Given the description of an element on the screen output the (x, y) to click on. 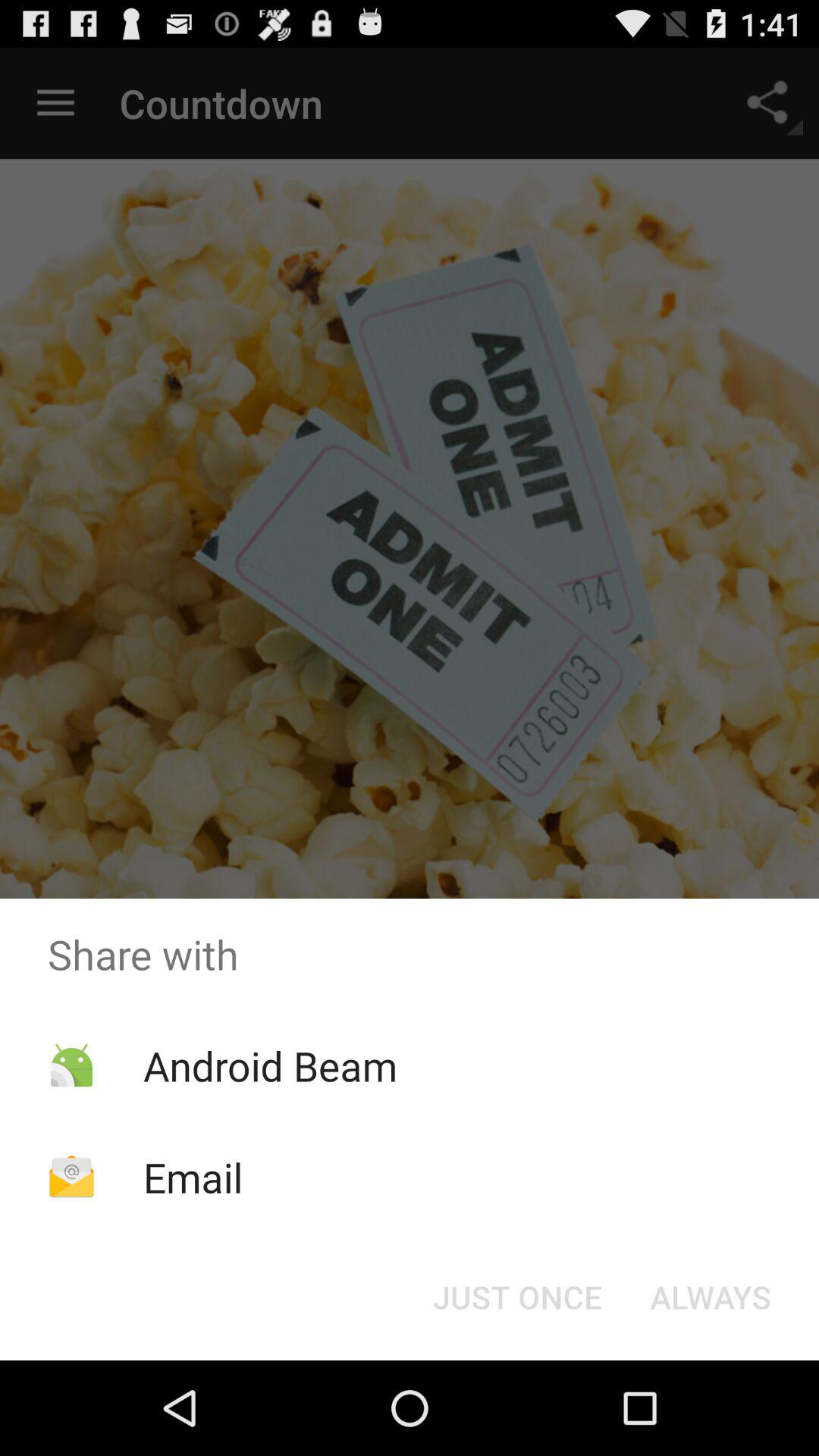
jump to just once item (517, 1296)
